Given the description of an element on the screen output the (x, y) to click on. 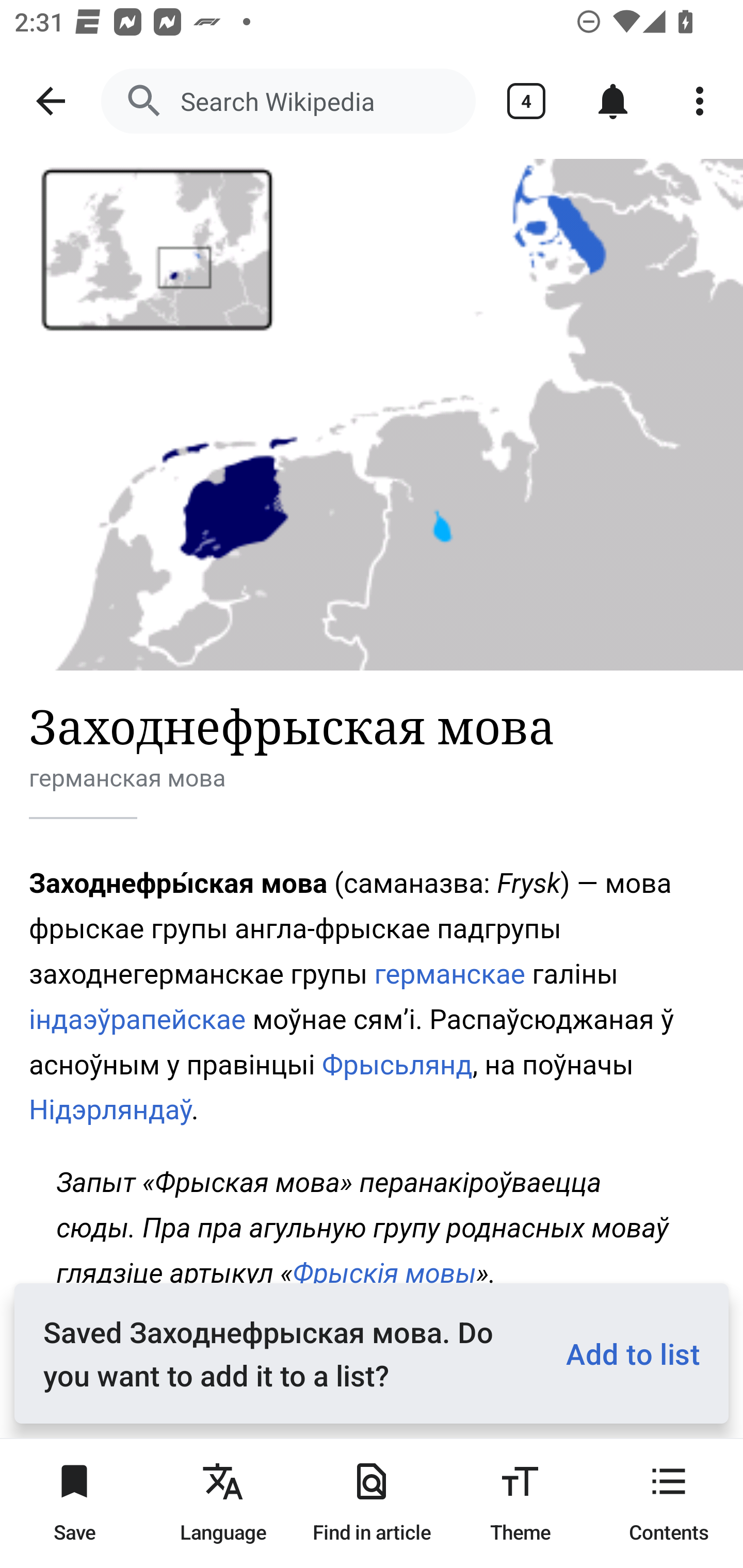
Show tabs 4 (525, 100)
Notifications (612, 100)
Navigate up (50, 101)
More options (699, 101)
Search Wikipedia (288, 100)
Image: Заходнефрыская мова (371, 414)
германскае (450, 973)
індаэўрапейскае (137, 1018)
Фрысьлянд (397, 1063)
Нідэрляндаў (110, 1109)
Фрыскія мовы (384, 1272)
Add to list (625, 1353)
Save (74, 1502)
Language (222, 1502)
Find in article (371, 1502)
Theme (519, 1502)
Contents (668, 1502)
